Given the description of an element on the screen output the (x, y) to click on. 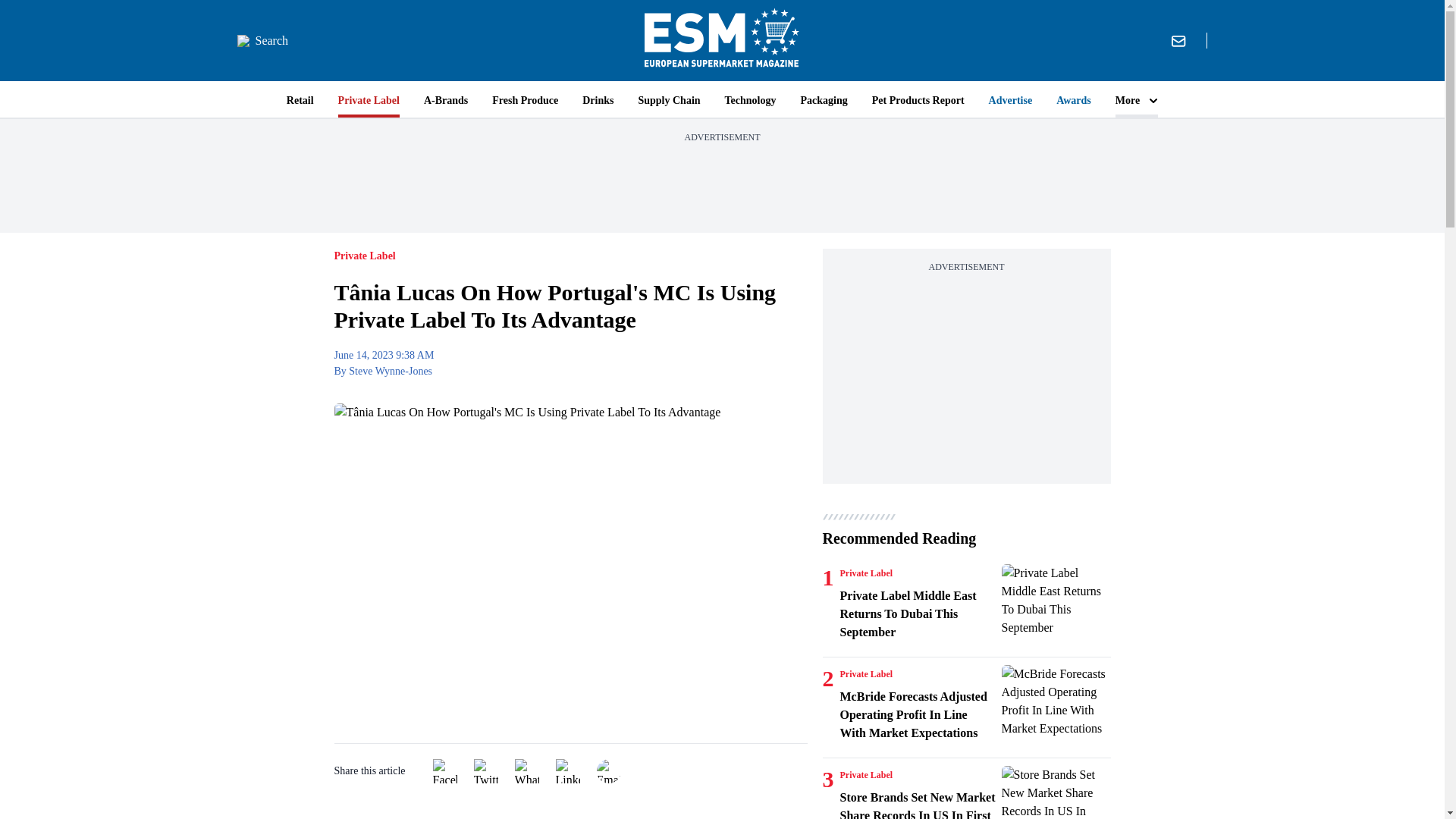
Private Label (866, 674)
Private Label (866, 573)
ESM (722, 40)
Private Label Middle East Returns To Dubai This September (1055, 600)
Search (261, 40)
Private Label (866, 775)
Private Label Middle East Returns To Dubai This September (917, 614)
